Given the description of an element on the screen output the (x, y) to click on. 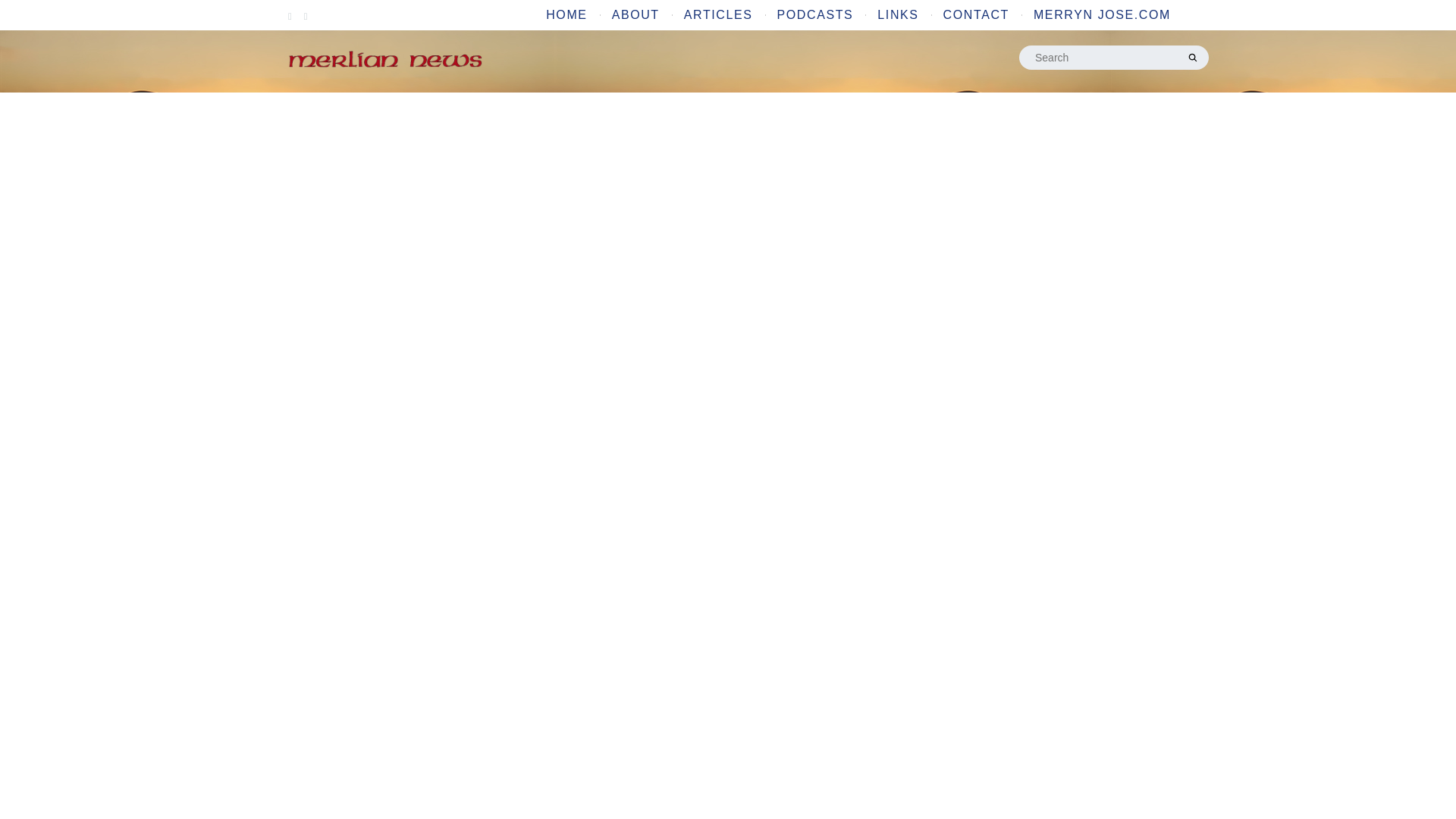
ABOUT (635, 15)
CONTACT (976, 15)
LINKS (897, 15)
ARTICLES (718, 15)
MERRYN JOSE.COM (1102, 15)
HOME (566, 15)
PODCASTS (815, 15)
